Given the description of an element on the screen output the (x, y) to click on. 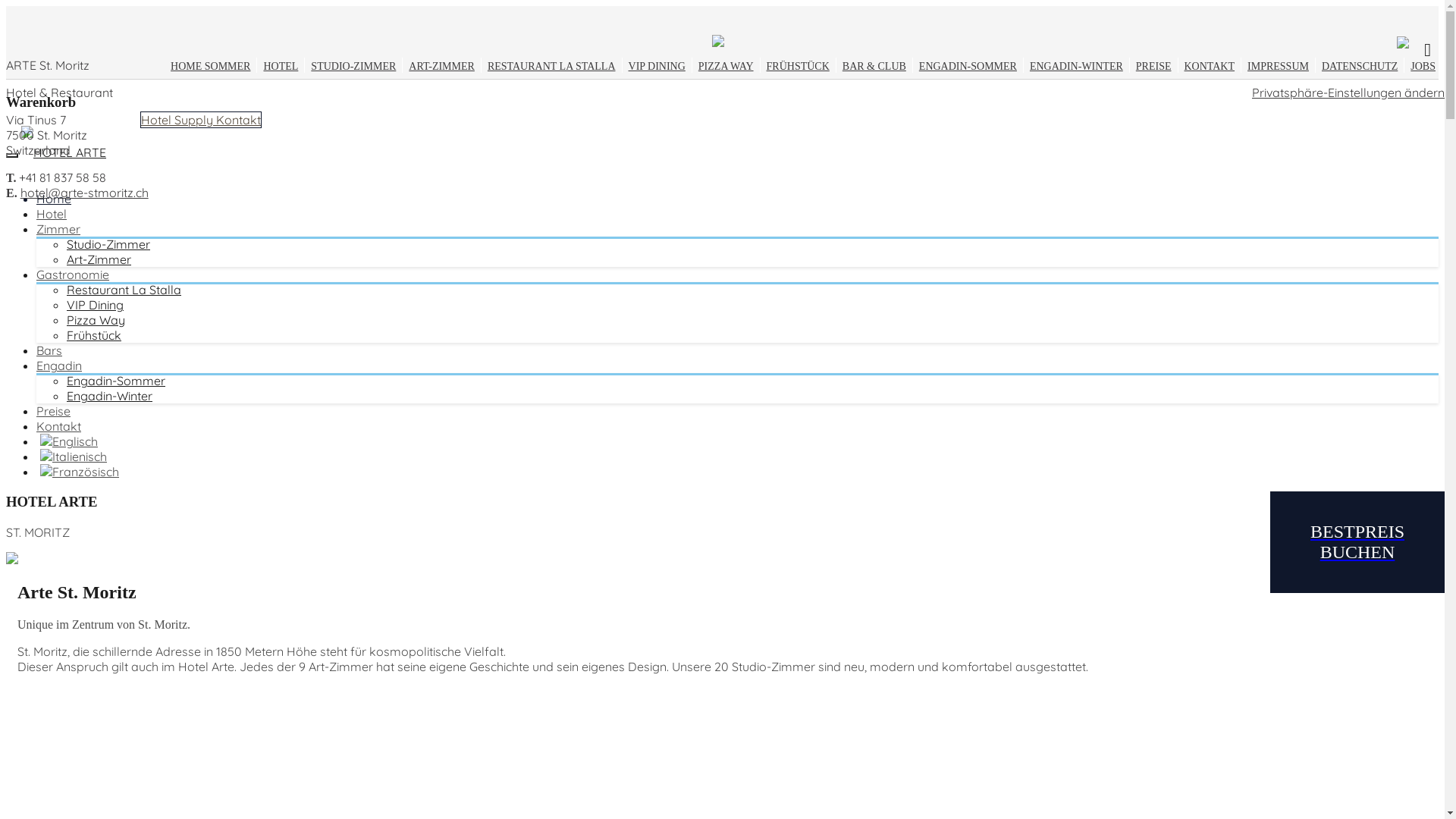
JOBS Element type: text (1422, 66)
Kontakt Element type: text (58, 426)
HOTEL Element type: text (280, 66)
Studio-Zimmer Element type: text (108, 243)
STUDIO-ZIMMER Element type: text (352, 66)
ENGADIN-WINTER Element type: text (1076, 66)
Restaurant La Stalla Element type: text (123, 289)
Art-Zimmer Element type: text (98, 258)
Engadin-Sommer Element type: text (115, 380)
Engadin-Winter Element type: text (109, 395)
PREISE Element type: text (1153, 66)
Hotel Element type: text (51, 213)
KONTAKT Element type: text (1209, 66)
DATENSCHUTZ Element type: text (1359, 66)
hotel@arte-stmoritz.ch Element type: text (84, 192)
BAR & CLUB Element type: text (874, 66)
Preise Element type: text (53, 410)
ENGADIN-SOMMER Element type: text (967, 66)
Bars Element type: text (49, 350)
Home Element type: text (53, 198)
Hotel Supply Kontakt Element type: text (200, 119)
Engadin Element type: text (58, 365)
HOME SOMMER Element type: text (210, 66)
VIP Dining Element type: text (94, 304)
IMPRESSUM Element type: text (1277, 66)
Pizza Way Element type: text (95, 319)
RESTAURANT LA STALLA Element type: text (551, 66)
Zimmer Element type: text (58, 228)
PIZZA WAY Element type: text (725, 66)
Gastronomie Element type: text (72, 274)
BESTPREIS BUCHEN Element type: text (1357, 541)
VIP DINING Element type: text (656, 66)
ART-ZIMMER Element type: text (441, 66)
